Given the description of an element on the screen output the (x, y) to click on. 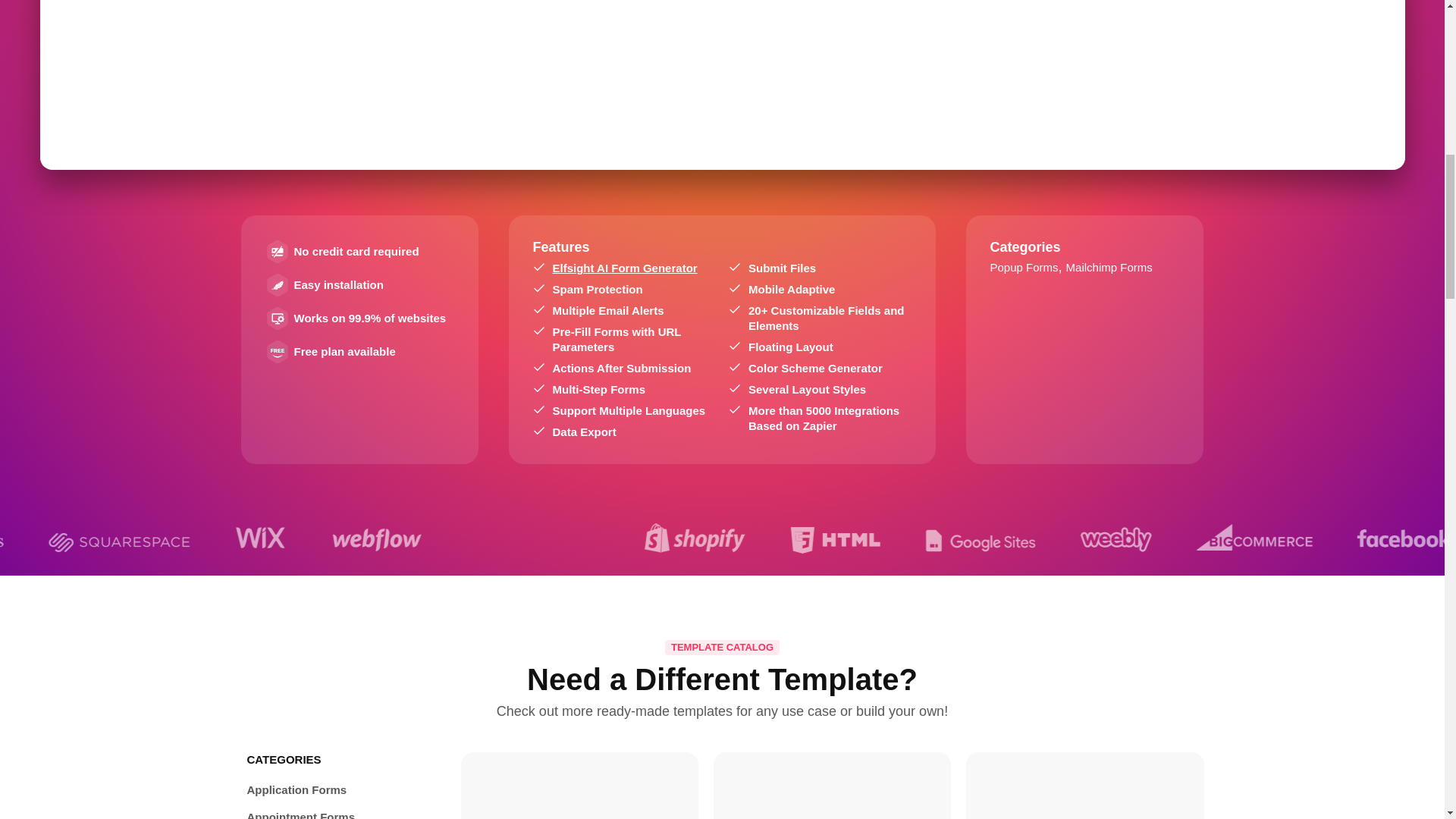
Popup Survey (579, 790)
Popup Newsletter Form (1084, 790)
Popup Subscription Form (832, 790)
